Given the description of an element on the screen output the (x, y) to click on. 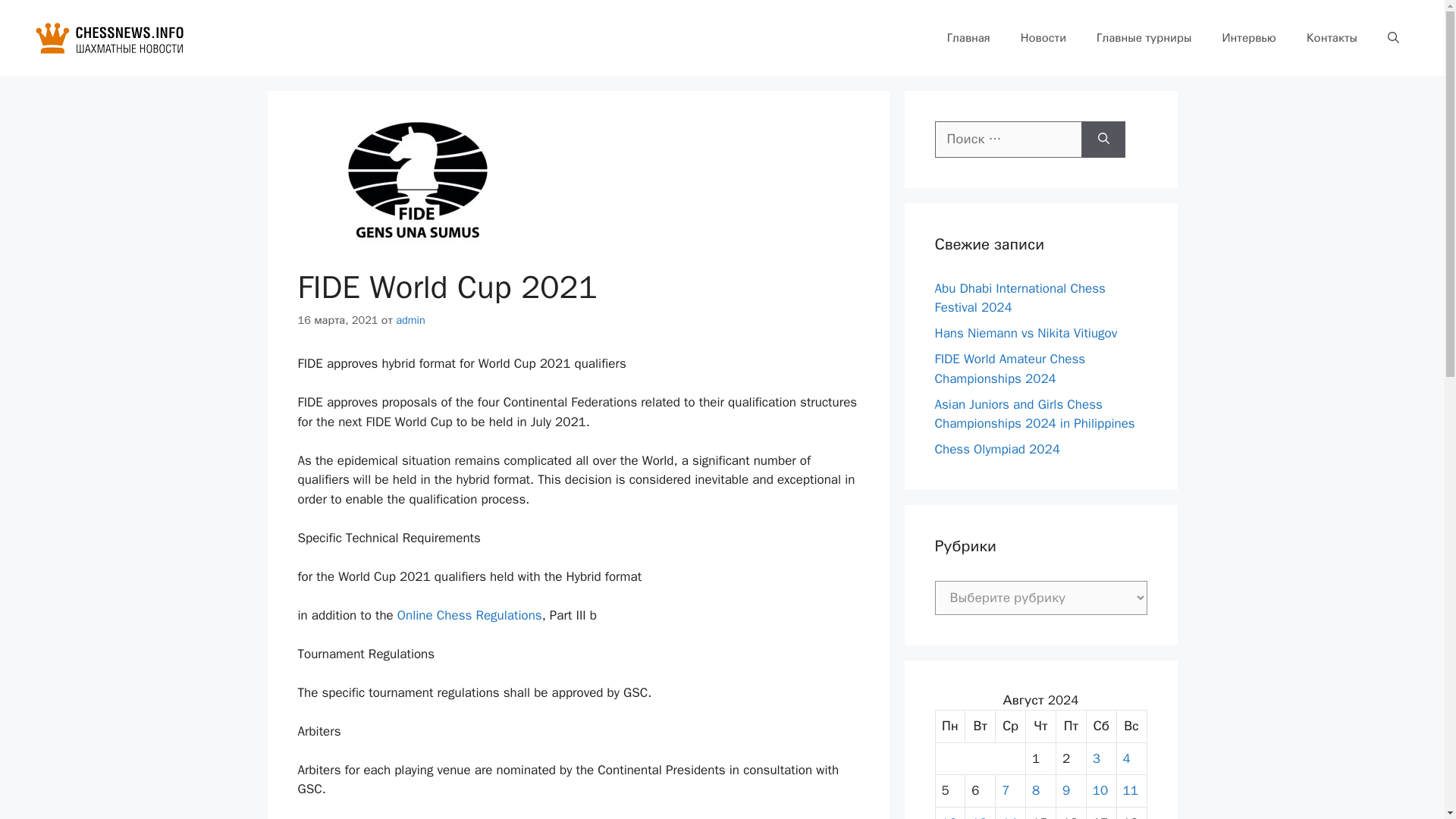
13 (979, 816)
14 (1008, 816)
11 (1130, 790)
12 (949, 816)
FIDE World Amateur Chess Championships 2024 (1009, 368)
admin (410, 319)
Chess Olympiad 2024 (996, 449)
10 (1100, 790)
Abu Dhabi International Chess Festival 2024 (1019, 298)
